Given the description of an element on the screen output the (x, y) to click on. 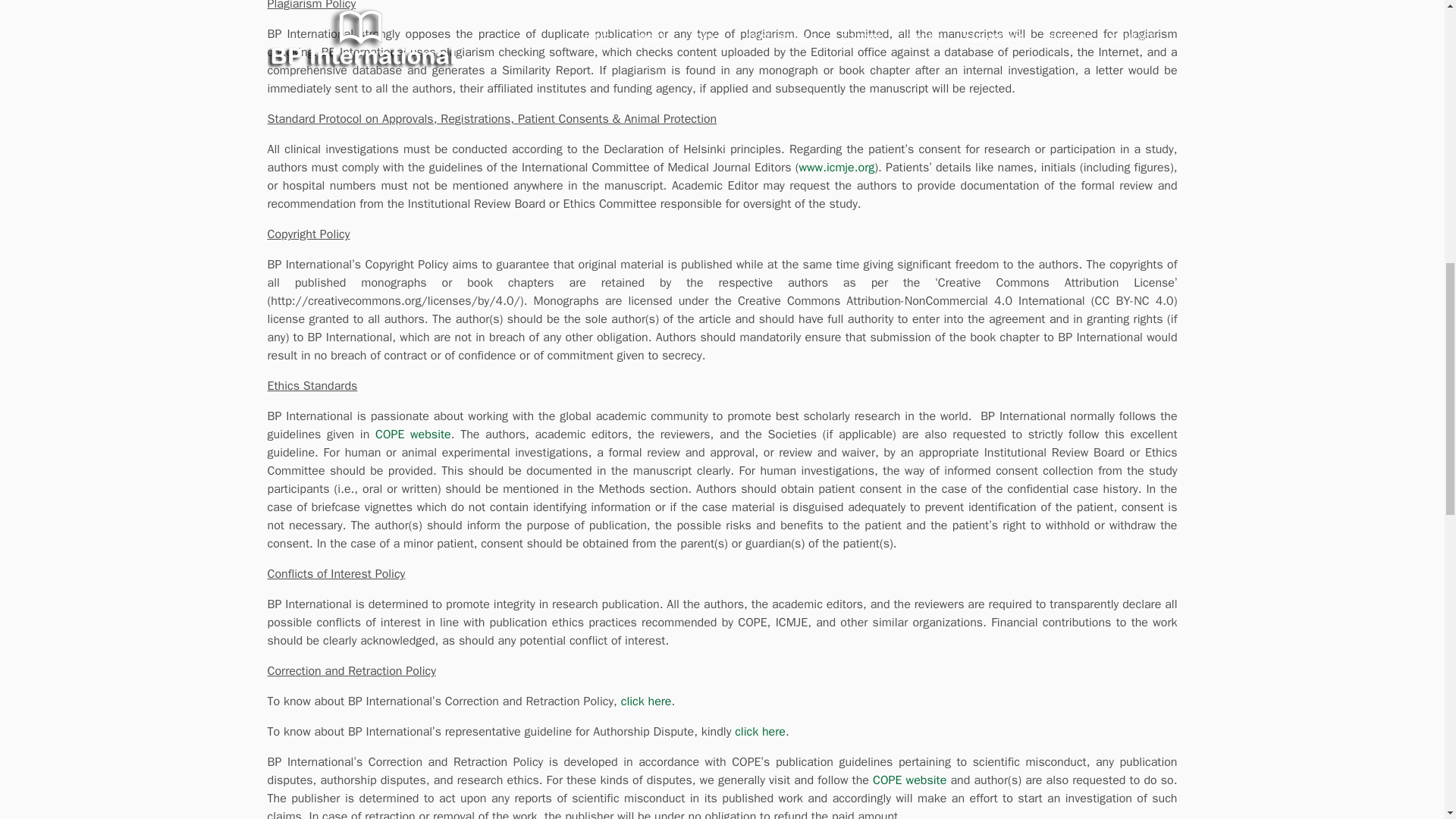
www.icmje.org (837, 167)
click here (646, 701)
click here (760, 731)
COPE website (909, 780)
COPE website (413, 434)
